Given the description of an element on the screen output the (x, y) to click on. 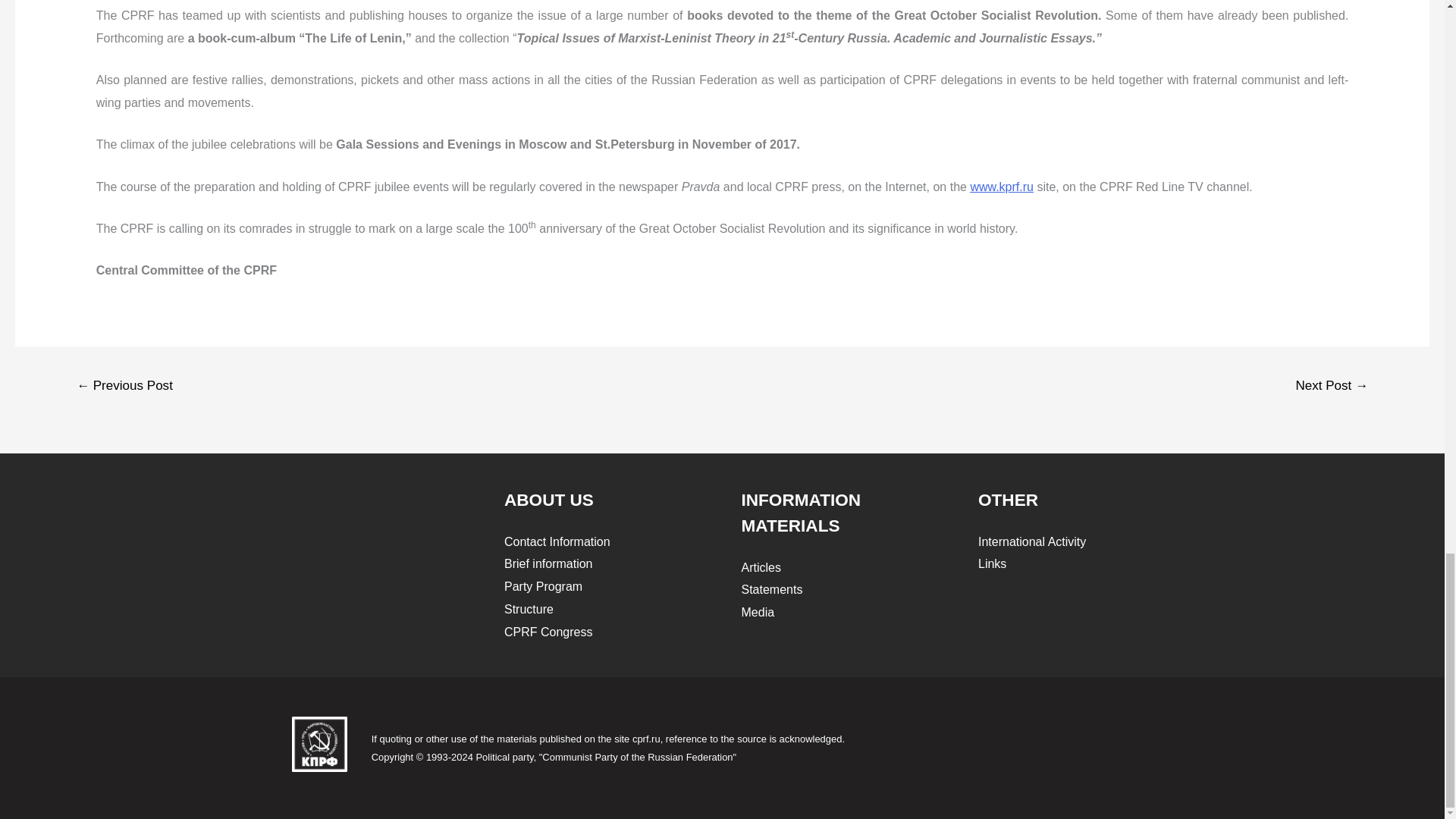
Party Program (542, 585)
Brief information (547, 563)
www.kprf.ru (1001, 186)
Contact Information (556, 541)
Structure (528, 608)
